Given the description of an element on the screen output the (x, y) to click on. 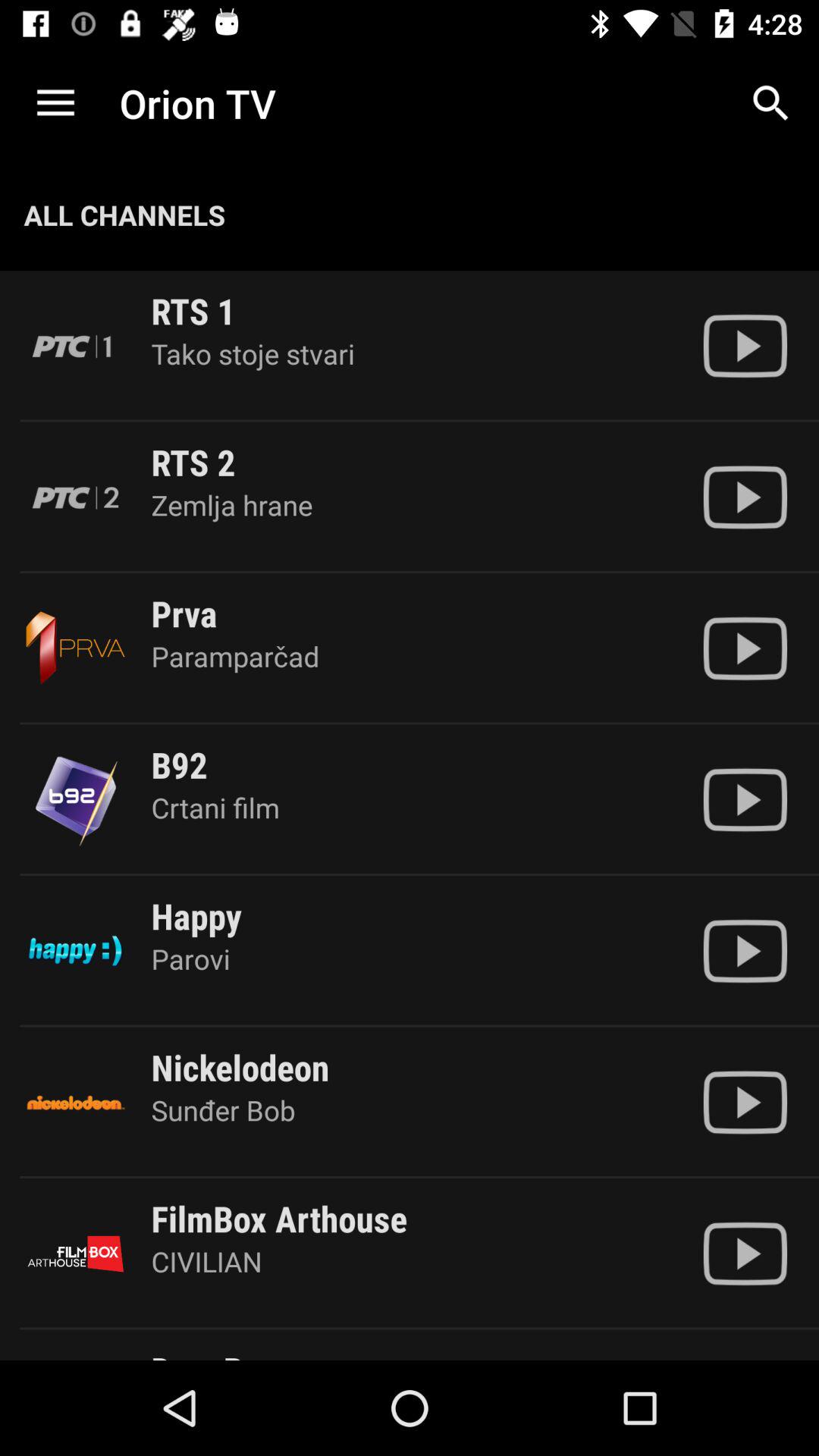
play the channel (745, 497)
